Given the description of an element on the screen output the (x, y) to click on. 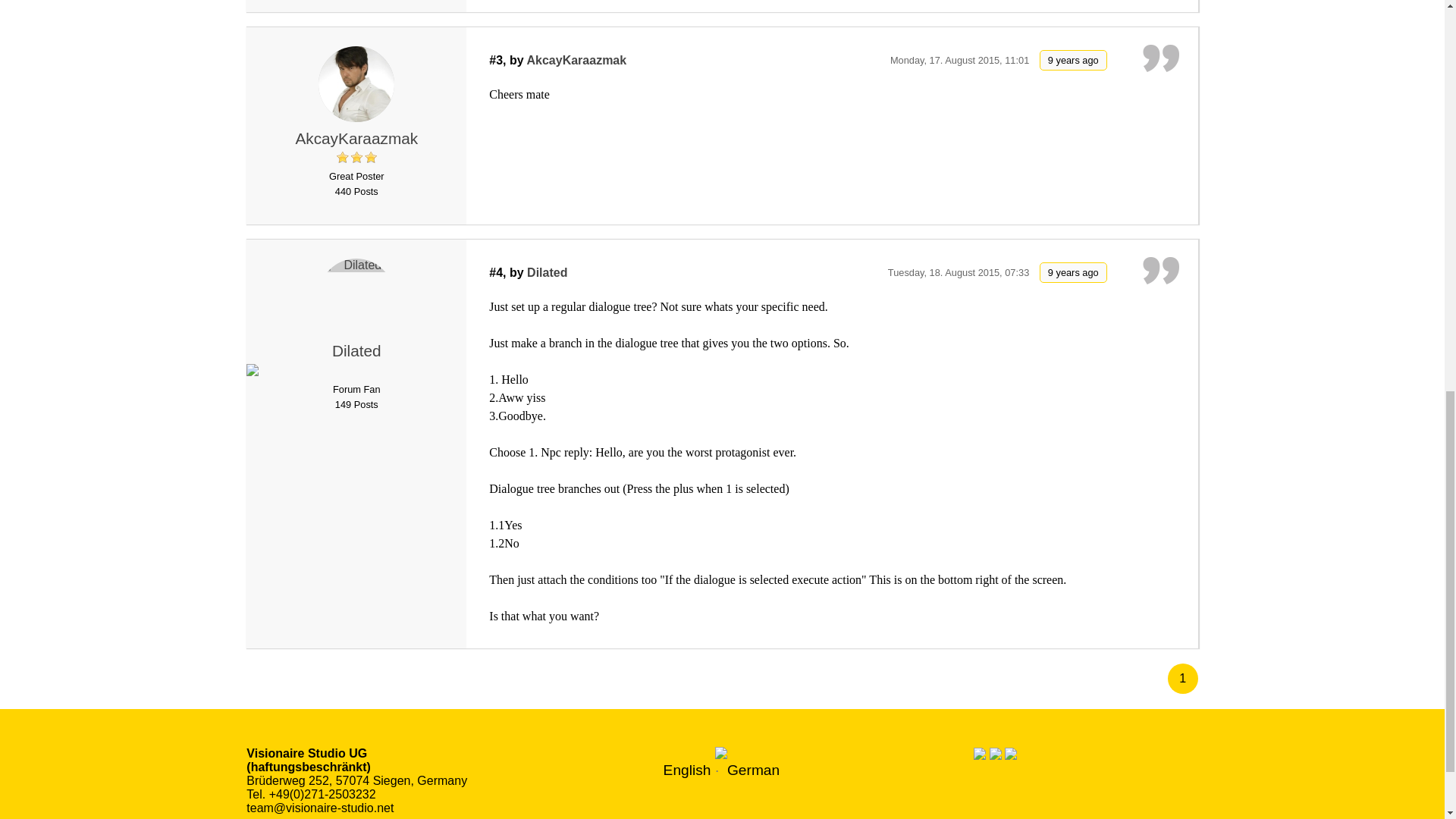
Dilated (547, 272)
AkcayKaraazmak (356, 138)
AkcayKaraazmak (356, 83)
Dilated (356, 296)
AkcayKaraazmak (356, 138)
AkcayKaraazmak (577, 60)
